Given the description of an element on the screen output the (x, y) to click on. 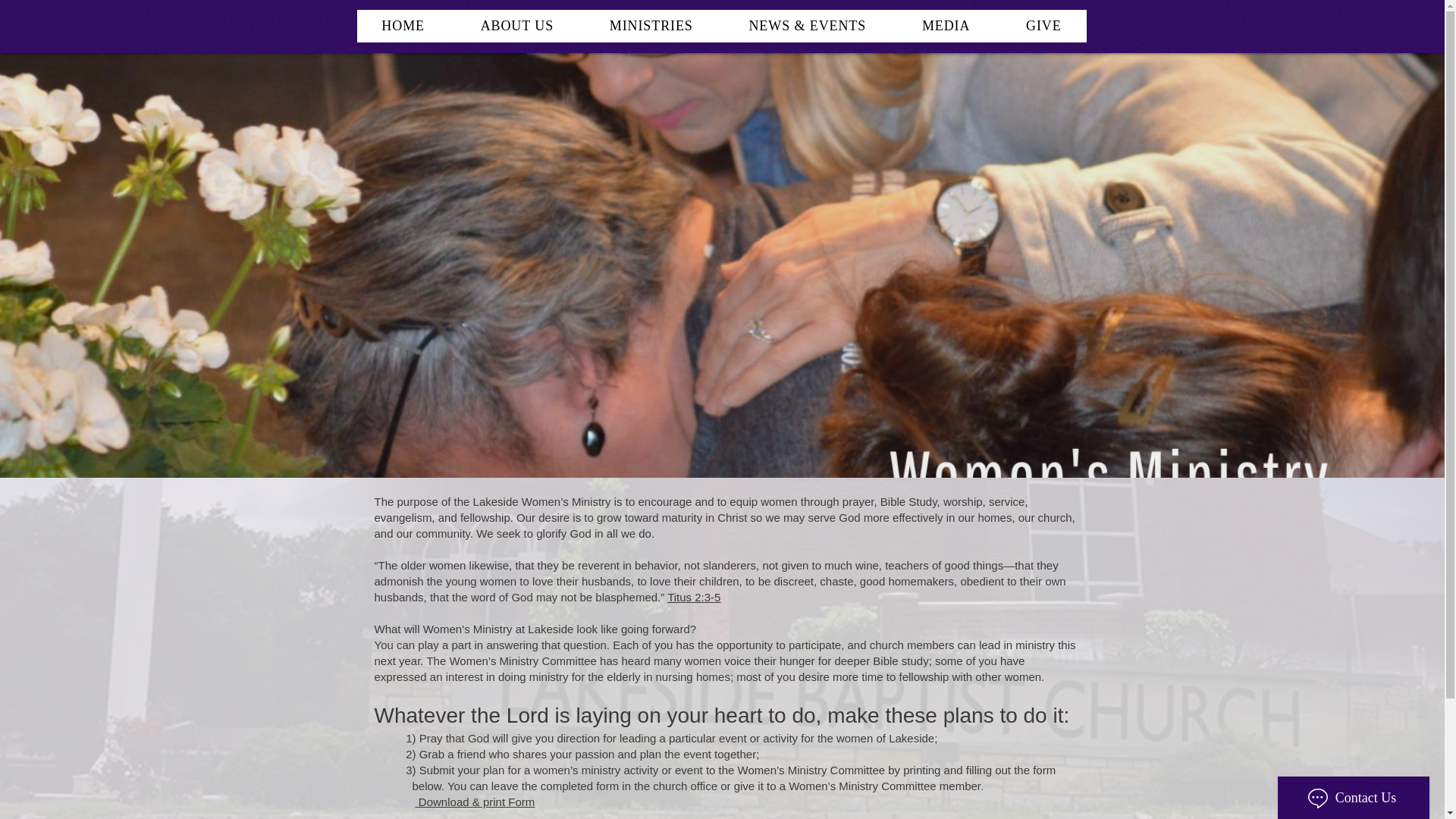
HOME (402, 25)
Titus 2:3-5 (693, 596)
